Given the description of an element on the screen output the (x, y) to click on. 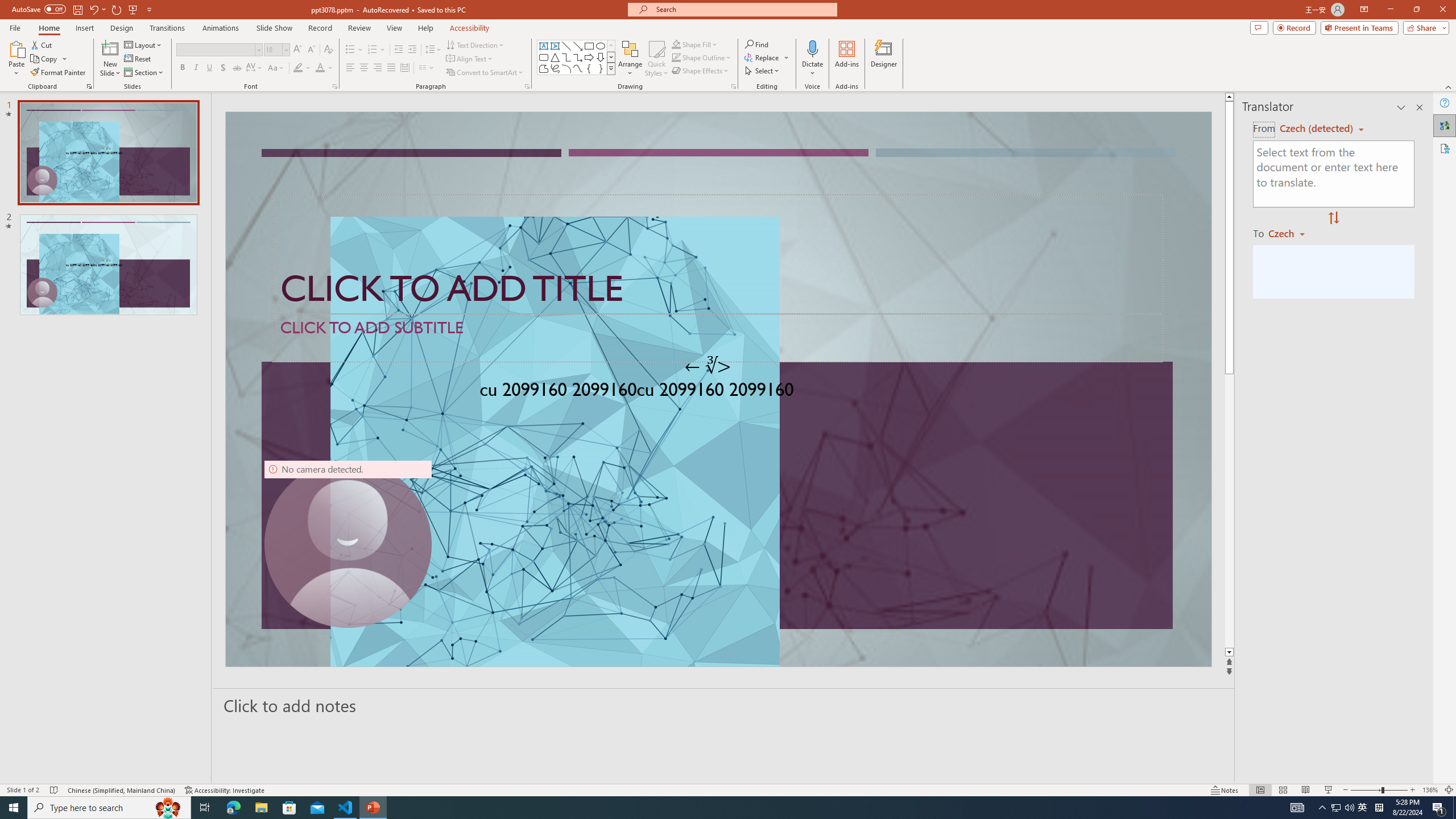
Czech (detected) (1317, 128)
